Given the description of an element on the screen output the (x, y) to click on. 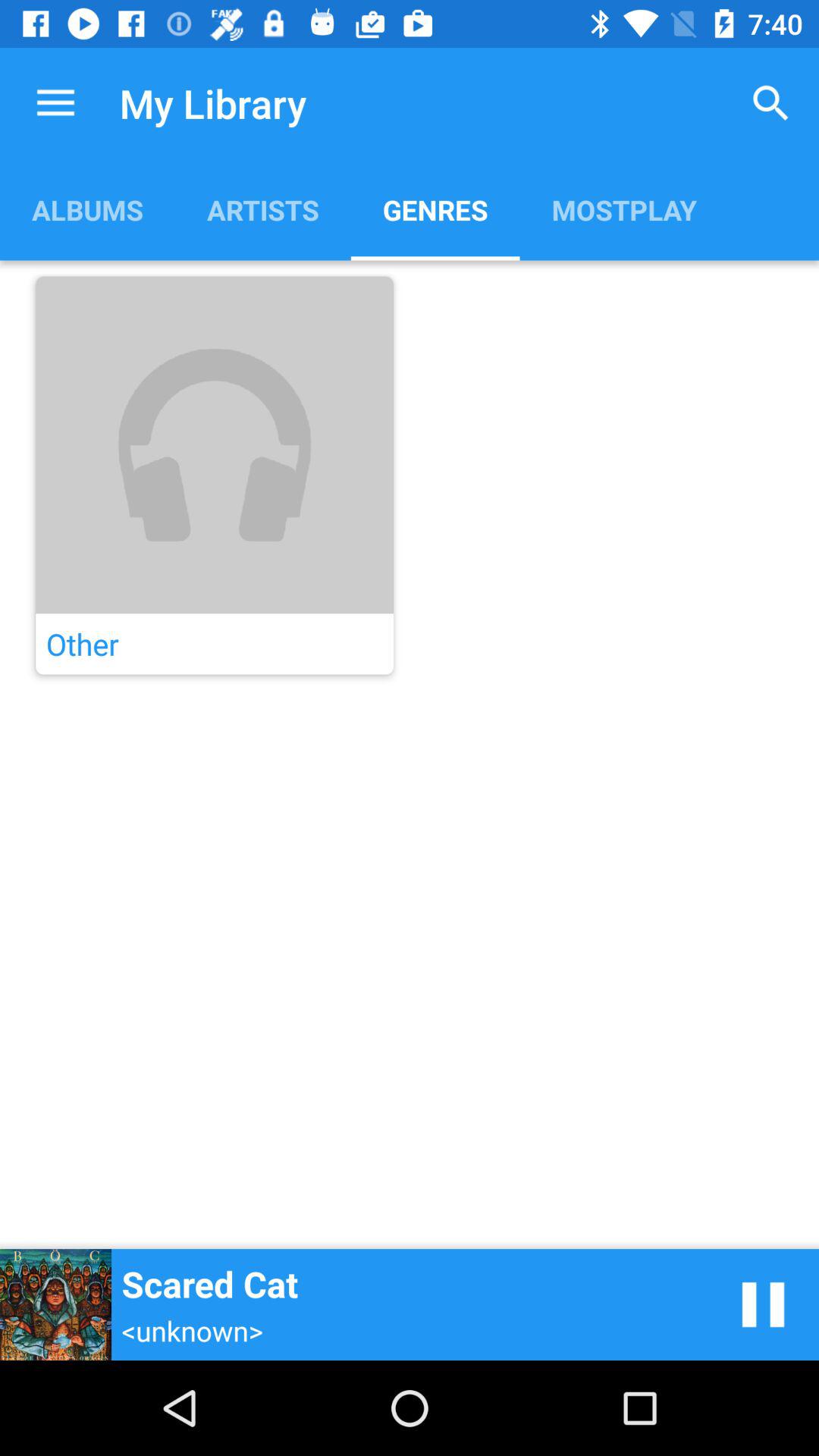
pause (763, 1304)
